Given the description of an element on the screen output the (x, y) to click on. 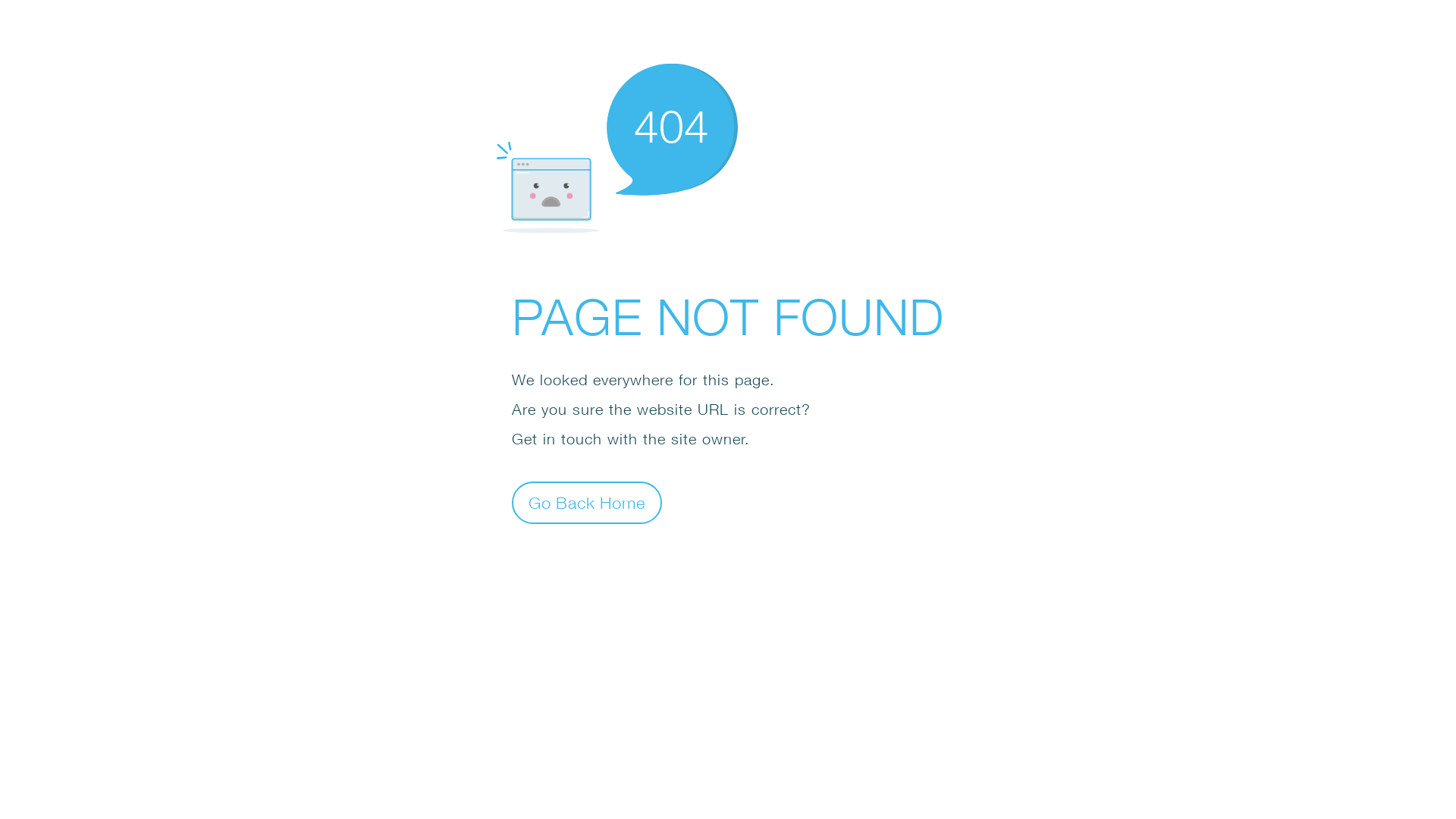
Go Back Home Element type: text (586, 502)
